Given the description of an element on the screen output the (x, y) to click on. 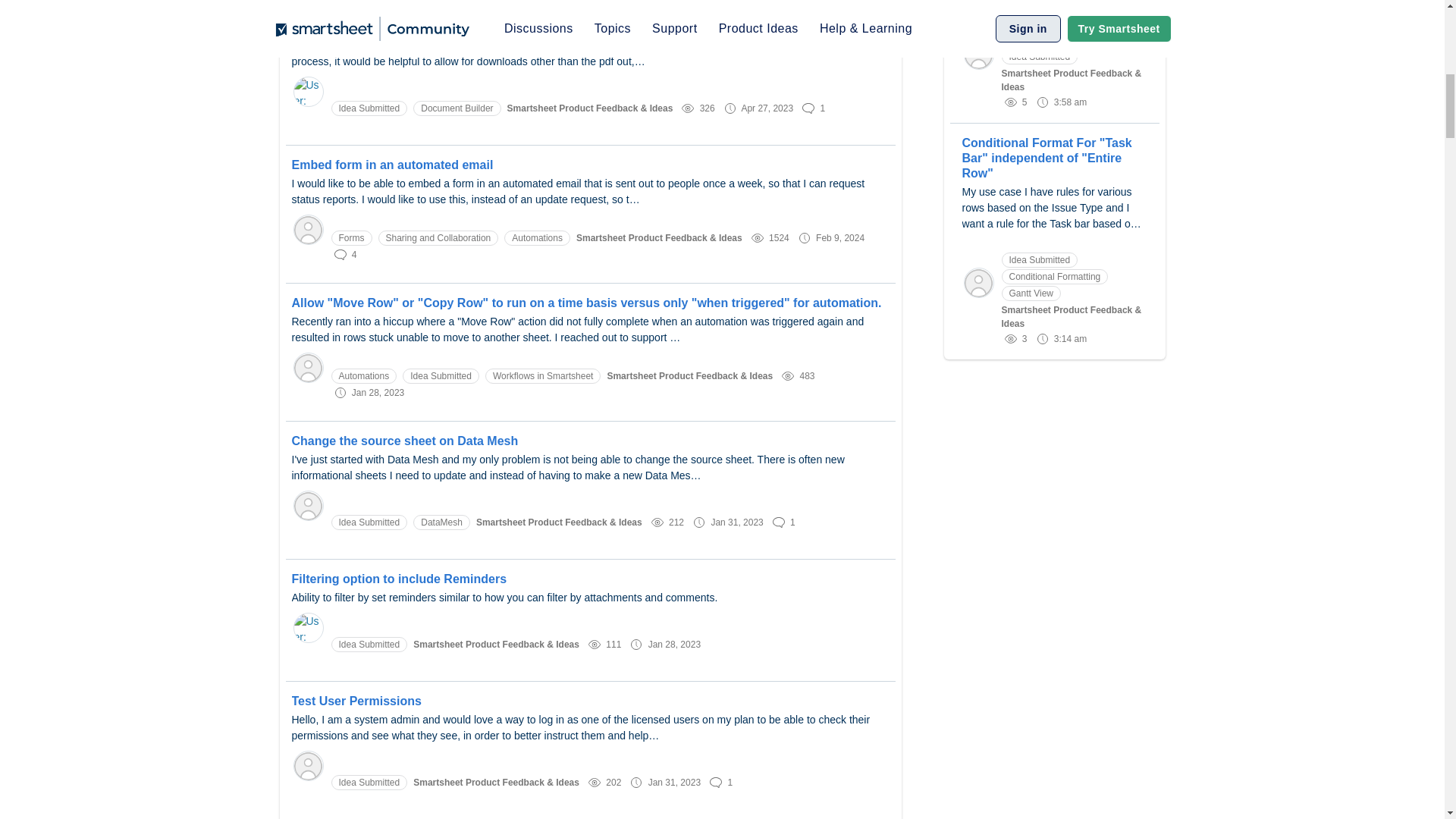
Embed form in an automated email (589, 165)
Saturday, January 28, 2023 at 12:03 AM (673, 643)
Automations (363, 376)
Tuesday, January 31, 2023 at 3:50 AM (673, 781)
Csellers (308, 765)
Sharing and Collaboration (437, 237)
Friday, February 9, 2024 at 11:12 PM (839, 236)
Melissa Sayers (308, 367)
Automations (536, 237)
Thursday, April 27, 2023 at 10:35 PM (767, 108)
Macorne (308, 229)
Word Download from Document Builder (589, 27)
Kimbh (308, 505)
Idea Submitted (368, 107)
Document Builder (456, 107)
